Given the description of an element on the screen output the (x, y) to click on. 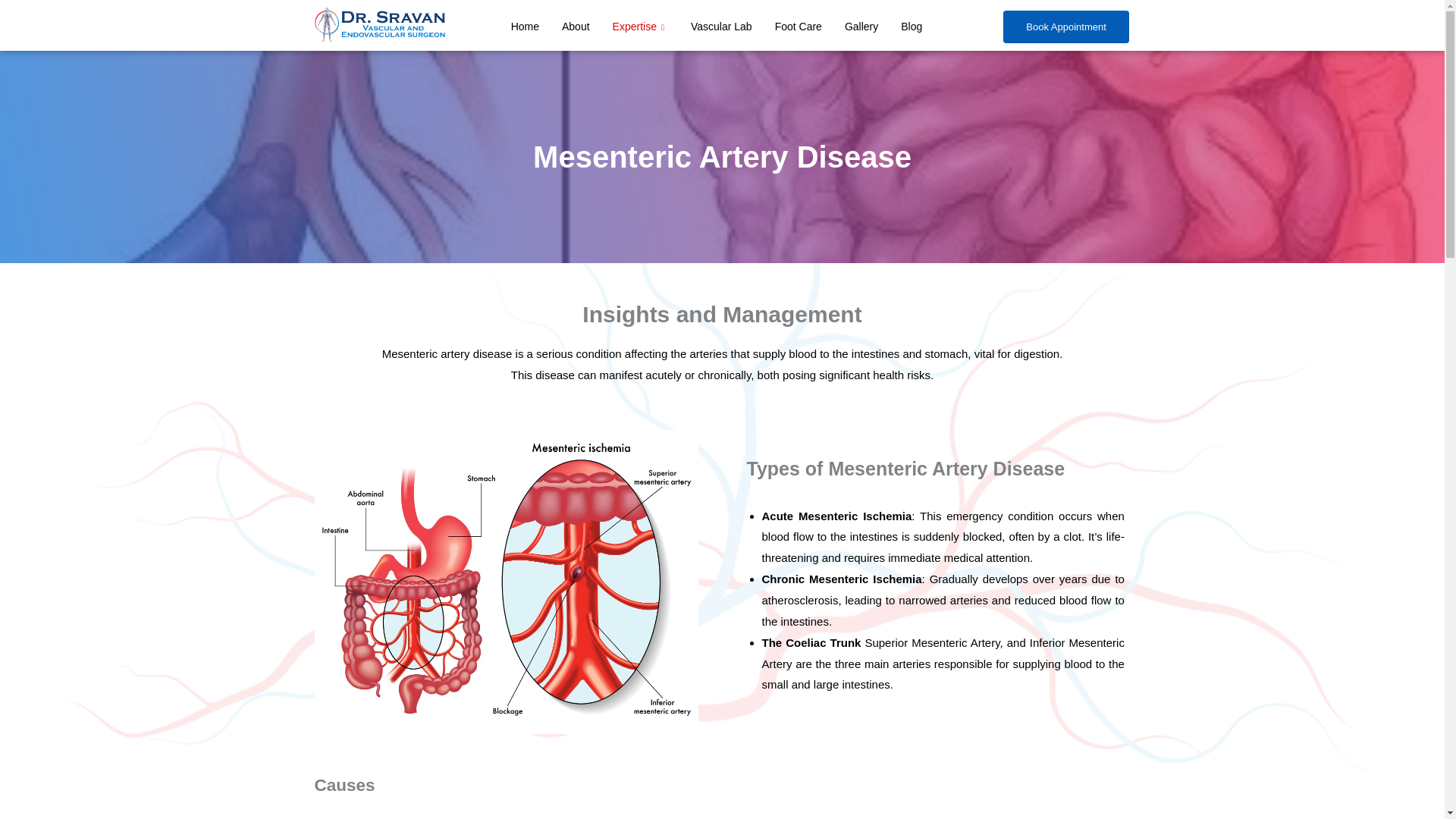
Vascular Lab (720, 28)
Foot Care (797, 28)
Expertise (640, 28)
Book Appointment (1066, 26)
Gallery (860, 28)
